Given the description of an element on the screen output the (x, y) to click on. 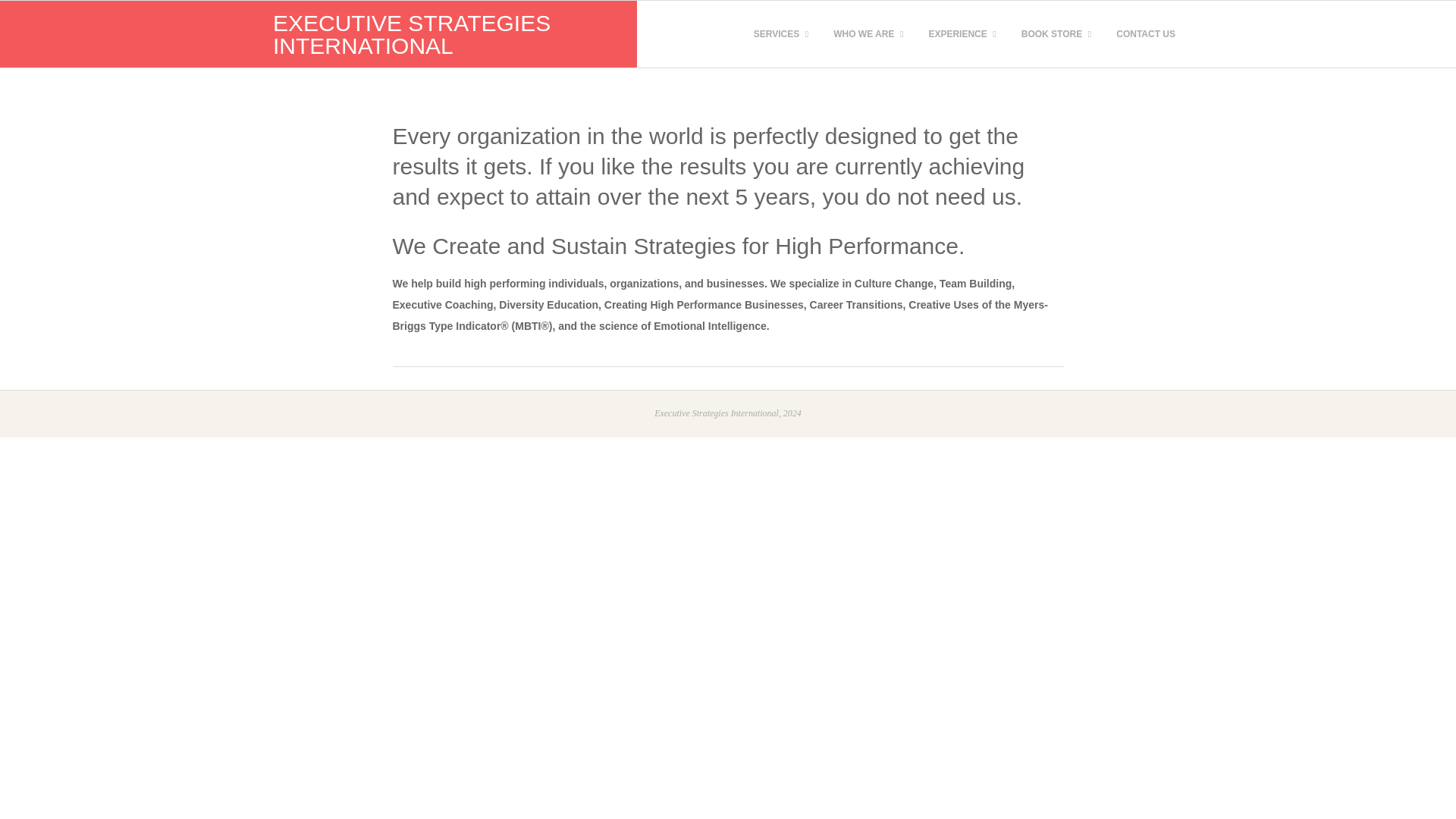
BOOK STORE (1053, 34)
EXPERIENCE (959, 34)
CONTACT US (1145, 34)
WHO WE ARE (866, 34)
SERVICES (778, 34)
EXECUTIVE STRATEGIES INTERNATIONAL (411, 34)
